Given the description of an element on the screen output the (x, y) to click on. 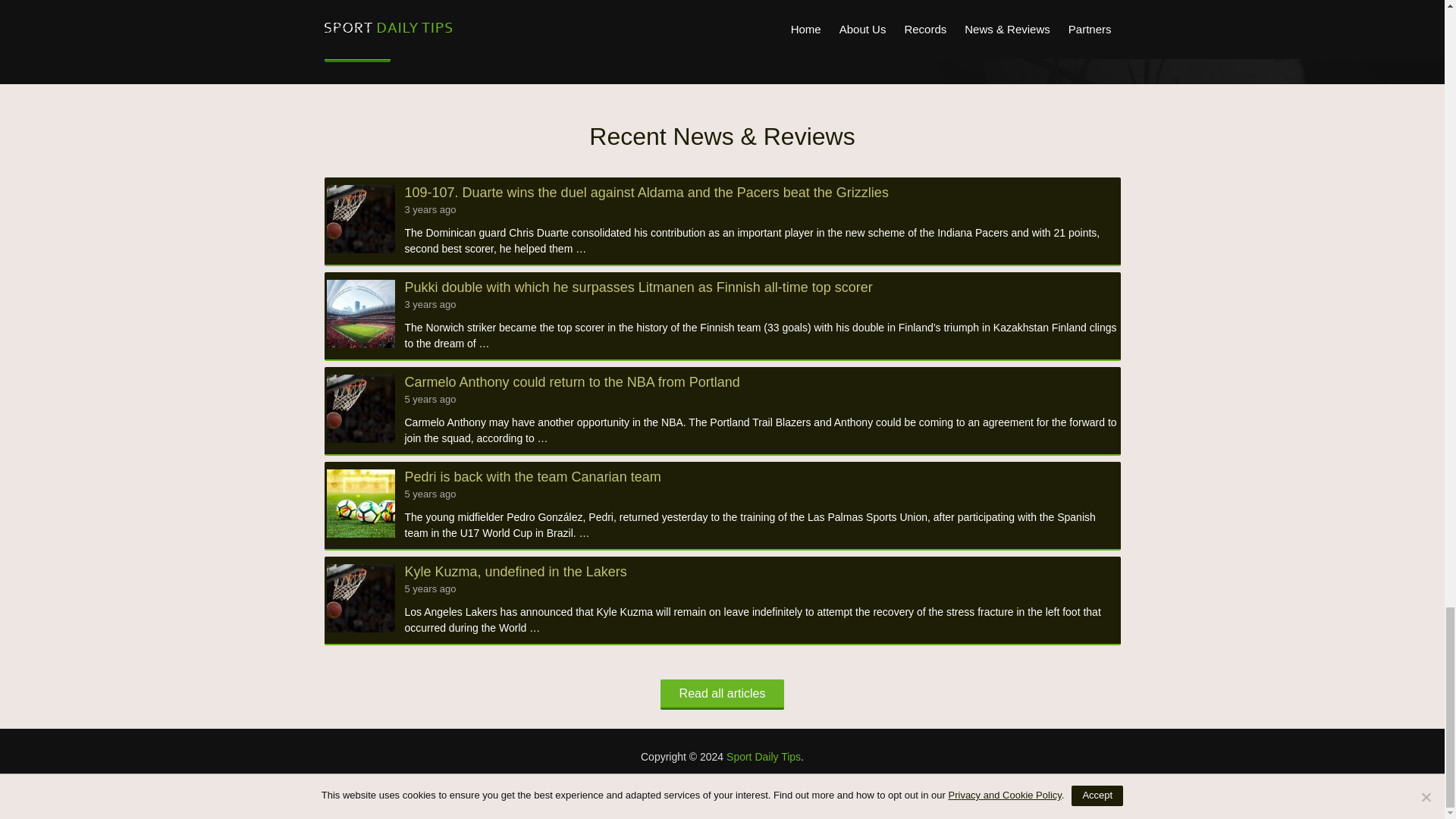
Sport Daily Tips (763, 756)
Send (357, 45)
